Given the description of an element on the screen output the (x, y) to click on. 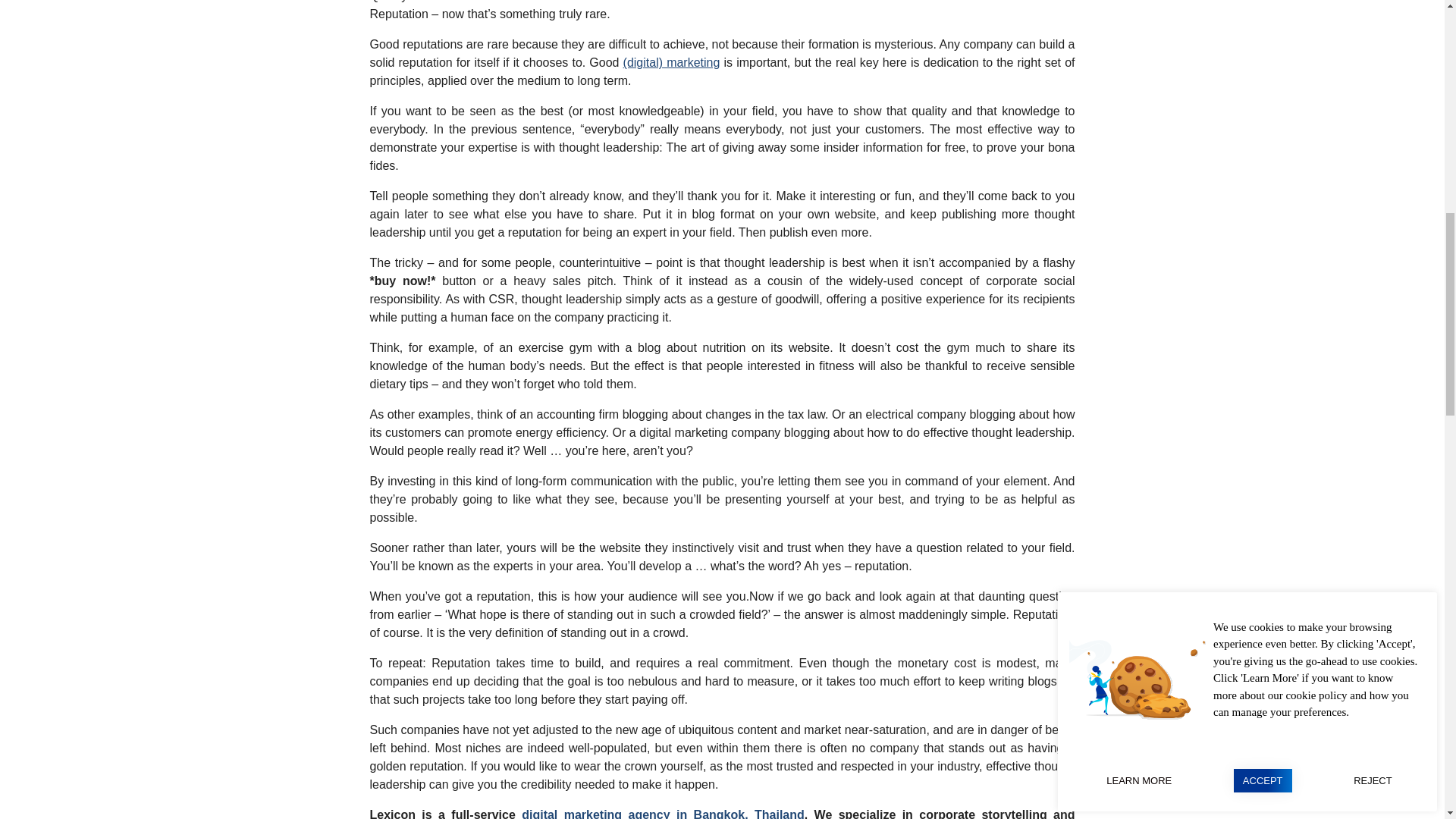
digital marketing agency in Bangkok, Thailand (663, 813)
